Given the description of an element on the screen output the (x, y) to click on. 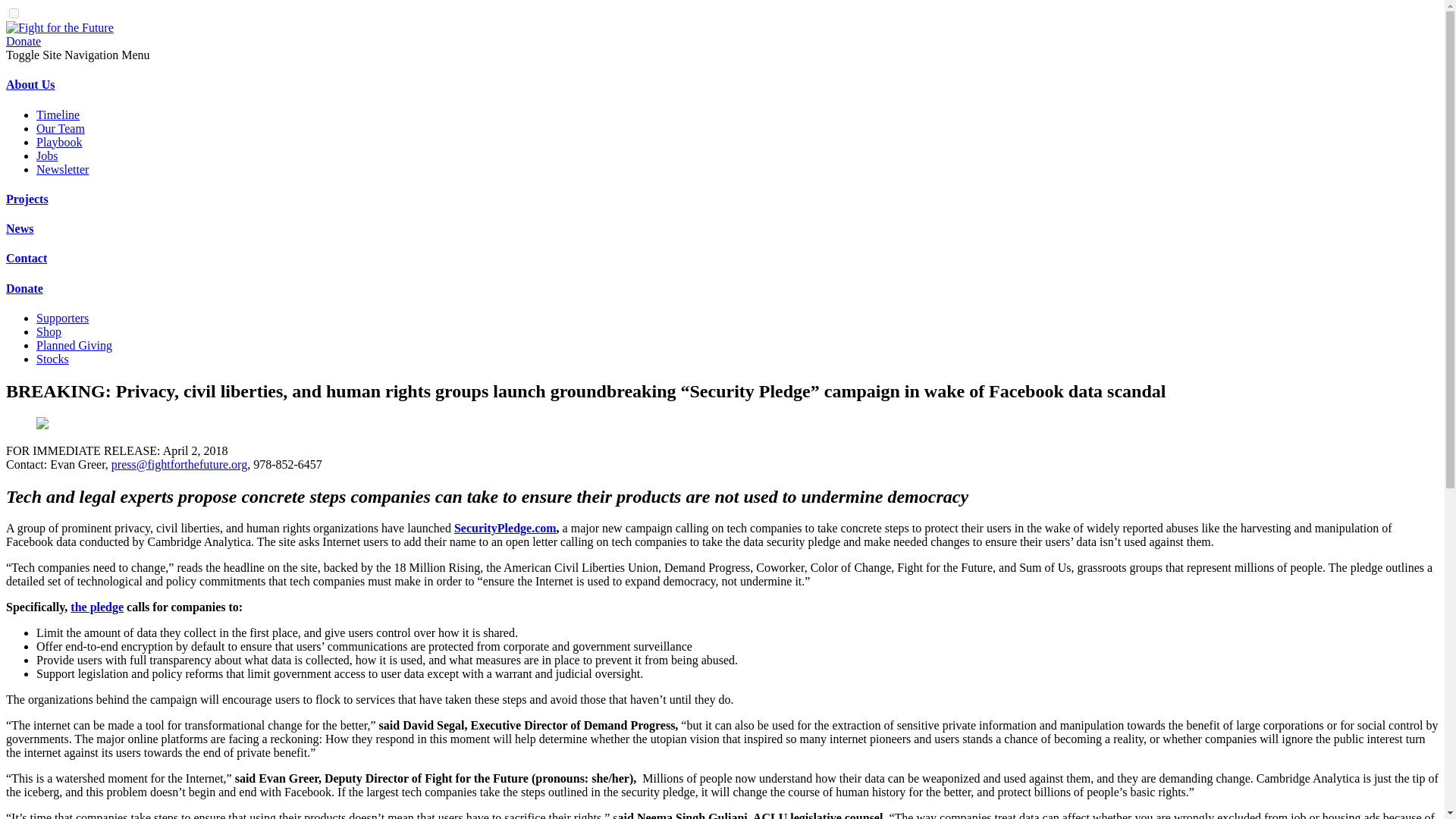
Our Team (60, 128)
Planned Giving (74, 345)
Supporters (62, 318)
About Us (30, 83)
Donate (22, 41)
Playbook (58, 141)
Timeline (58, 114)
SecurityPledge.com (505, 527)
Shop (48, 331)
Stocks (52, 358)
